Given the description of an element on the screen output the (x, y) to click on. 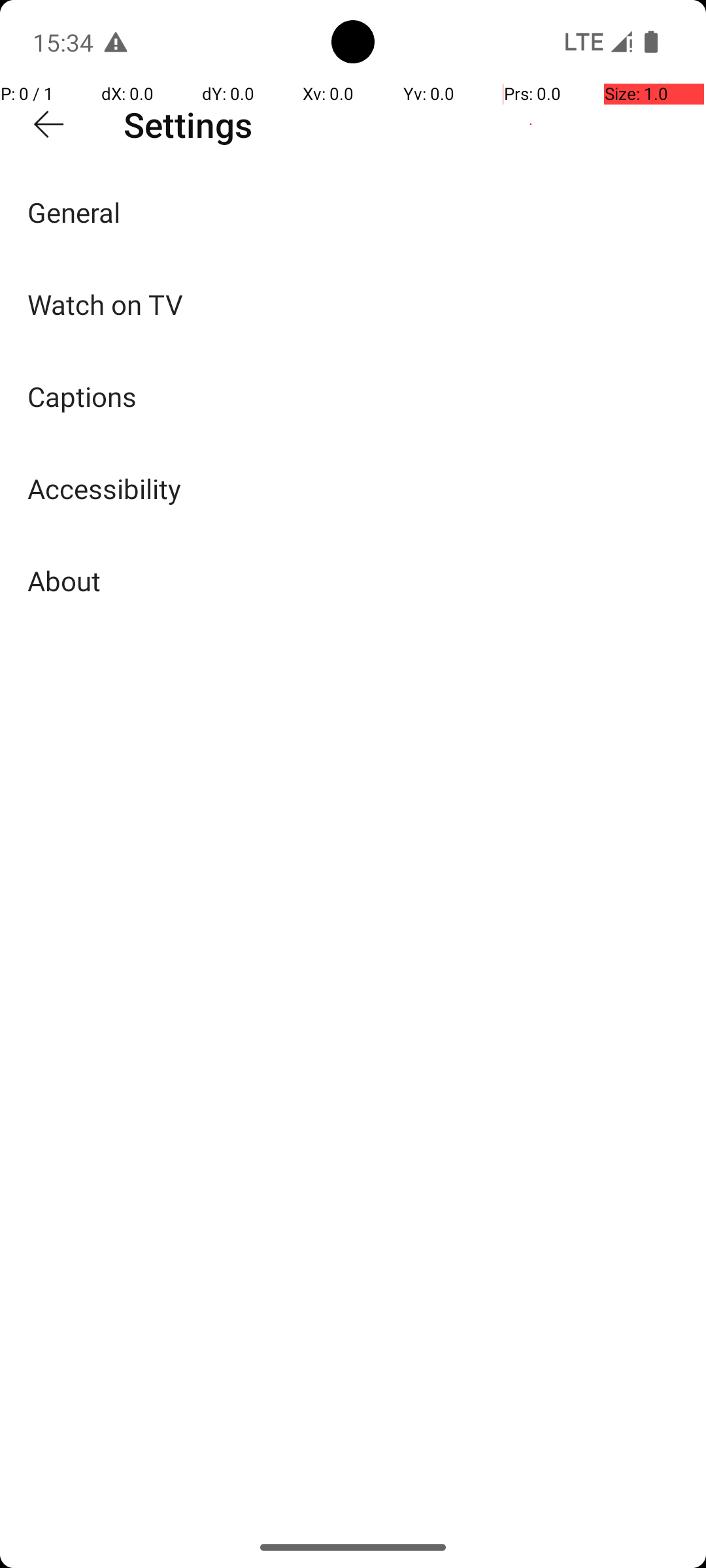
General Element type: android.widget.TextView (73, 211)
Watch on TV Element type: android.widget.TextView (105, 303)
Captions Element type: android.widget.TextView (81, 395)
Accessibility Element type: android.widget.TextView (104, 487)
About Element type: android.widget.TextView (63, 580)
